Given the description of an element on the screen output the (x, y) to click on. 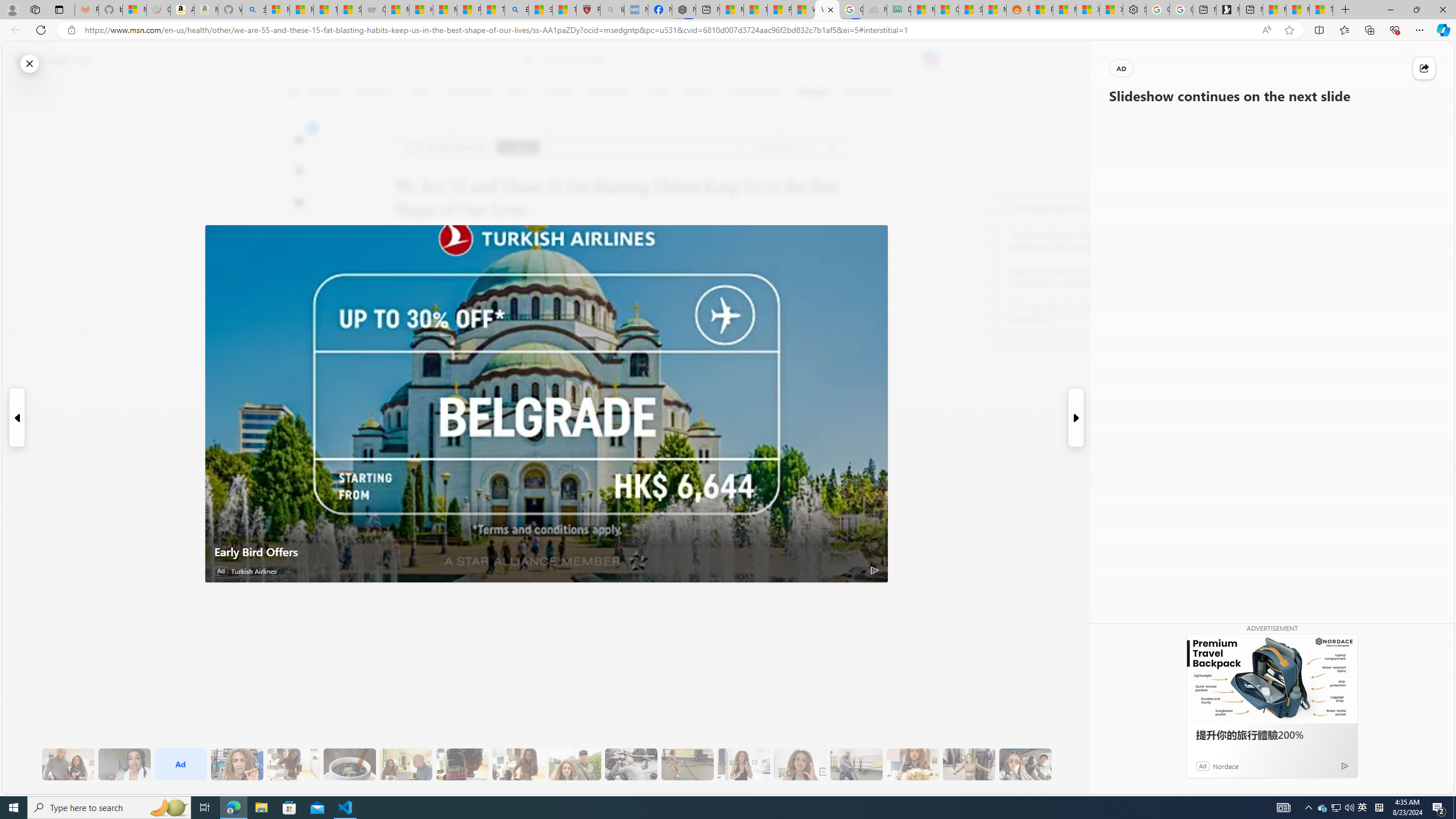
16 The Couple's Program Helps with Accountability (1024, 764)
8 Be Mindful of Coffee (349, 764)
